Given the description of an element on the screen output the (x, y) to click on. 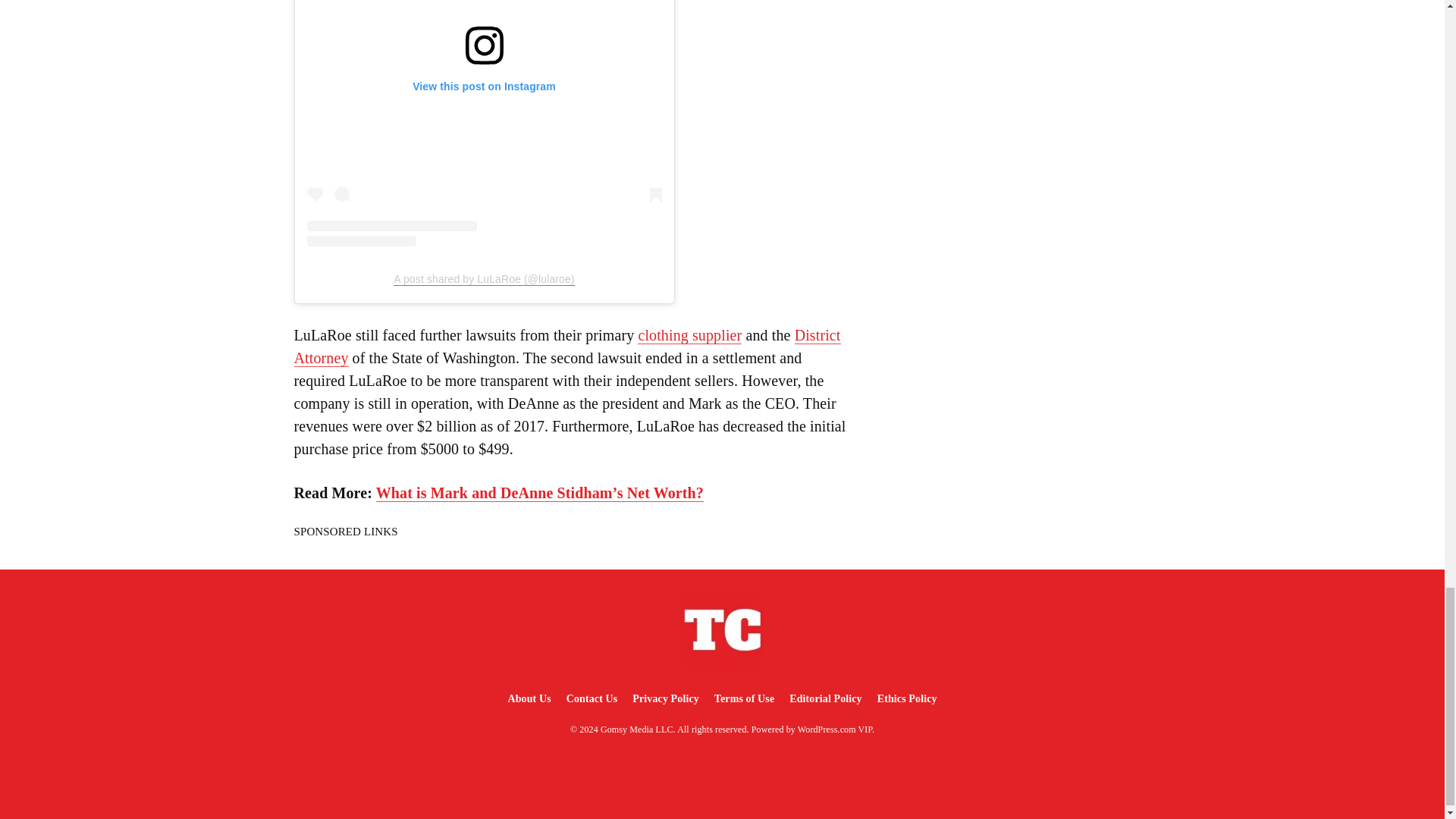
Editorial Policy (825, 698)
About Us (528, 698)
clothing supplier (689, 334)
View this post on Instagram (483, 123)
WordPress.com VIP (834, 728)
Terms of Use (743, 698)
Ethics Policy (906, 698)
Privacy Policy (665, 698)
Contact Us (592, 698)
District Attorney (567, 346)
